Given the description of an element on the screen output the (x, y) to click on. 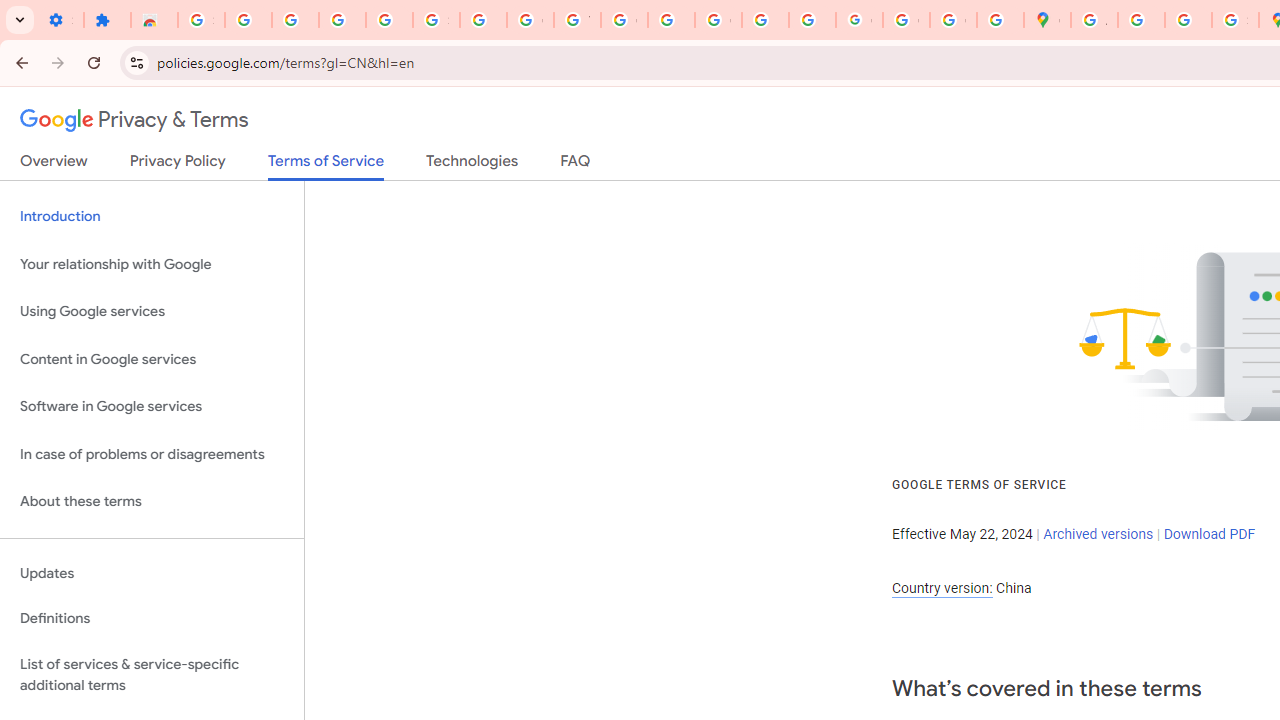
Download PDF (1209, 533)
Safety in Our Products - Google Safety Center (1235, 20)
List of services & service-specific additional terms (152, 674)
Sign in - Google Accounts (436, 20)
Google Account (530, 20)
